Given the description of an element on the screen output the (x, y) to click on. 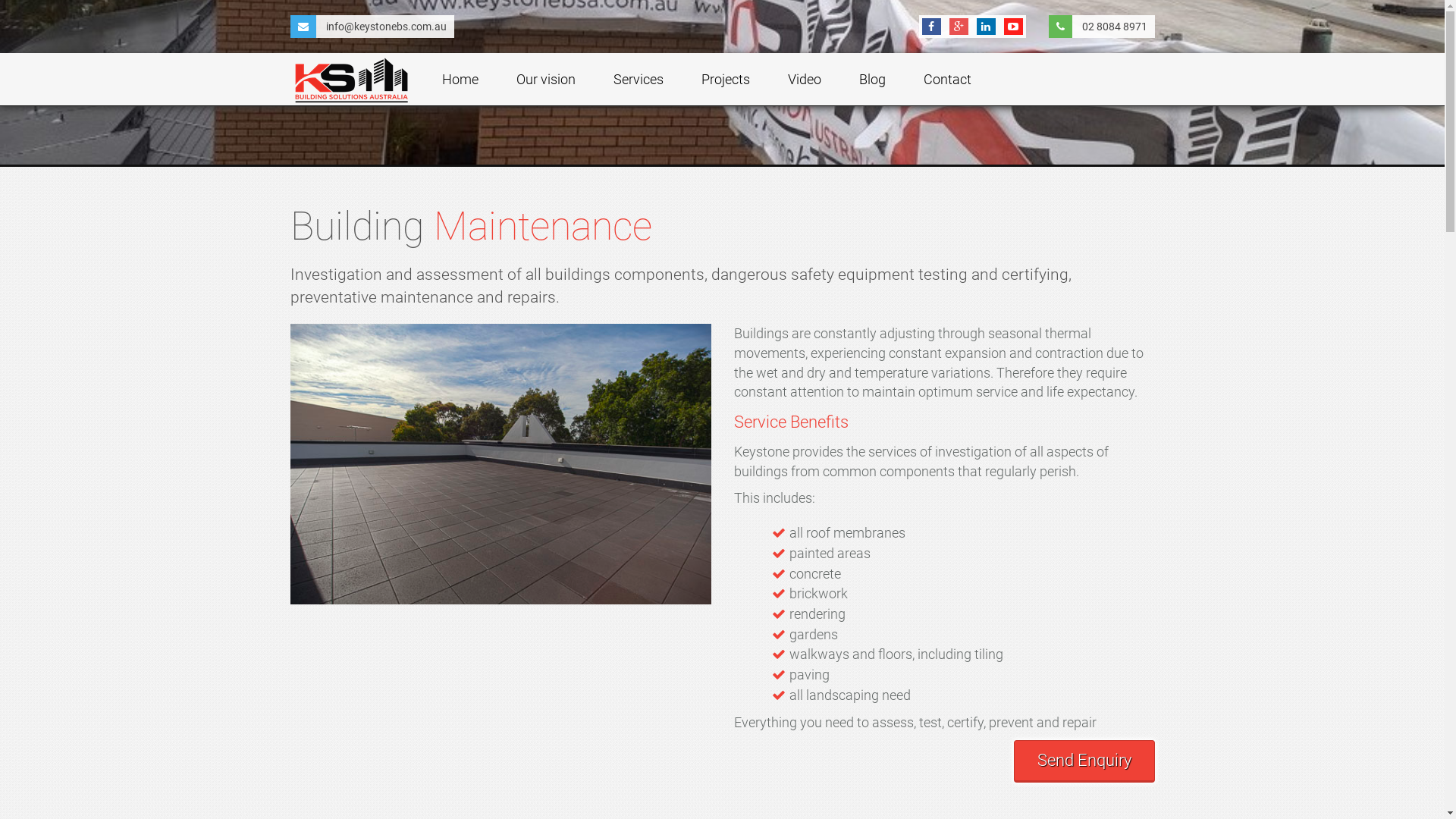
Blog Element type: text (872, 79)
Contact Element type: text (946, 79)
Projects Element type: text (725, 79)
02 8084 8971 Element type: text (1113, 26)
Home Element type: text (460, 79)
info@keystonebs.com.au Element type: text (386, 26)
Video Element type: text (804, 79)
Send Enquiry Element type: text (1083, 760)
Our vision Element type: text (545, 79)
Services Element type: text (638, 79)
